Given the description of an element on the screen output the (x, y) to click on. 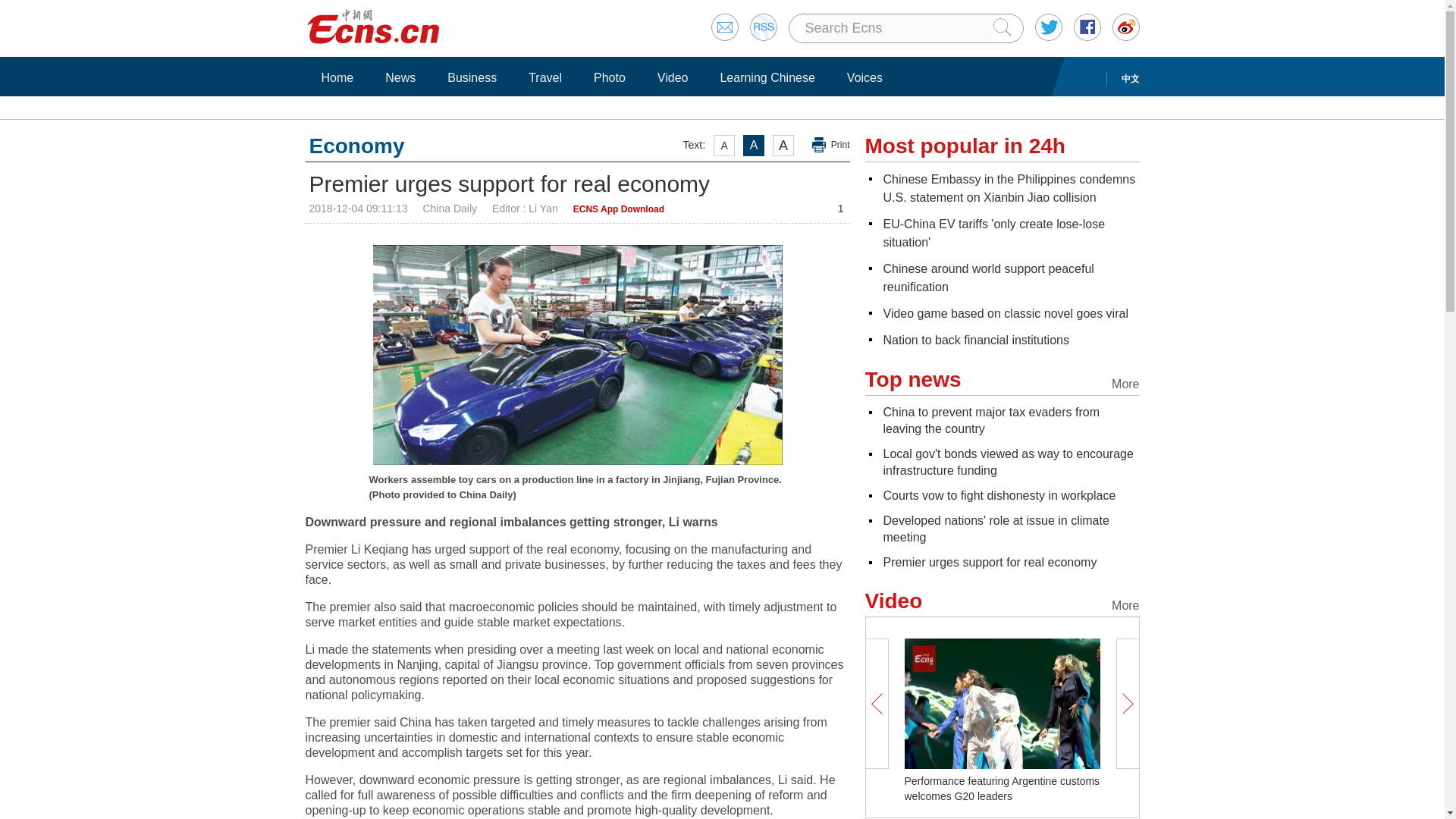
Photo (609, 77)
News (400, 77)
Video (673, 77)
Business (472, 77)
Learning Chinese (766, 77)
Travel (544, 77)
Chinese (987, 277)
Video (1004, 313)
Print (831, 144)
Chinese (1008, 187)
